Given the description of an element on the screen output the (x, y) to click on. 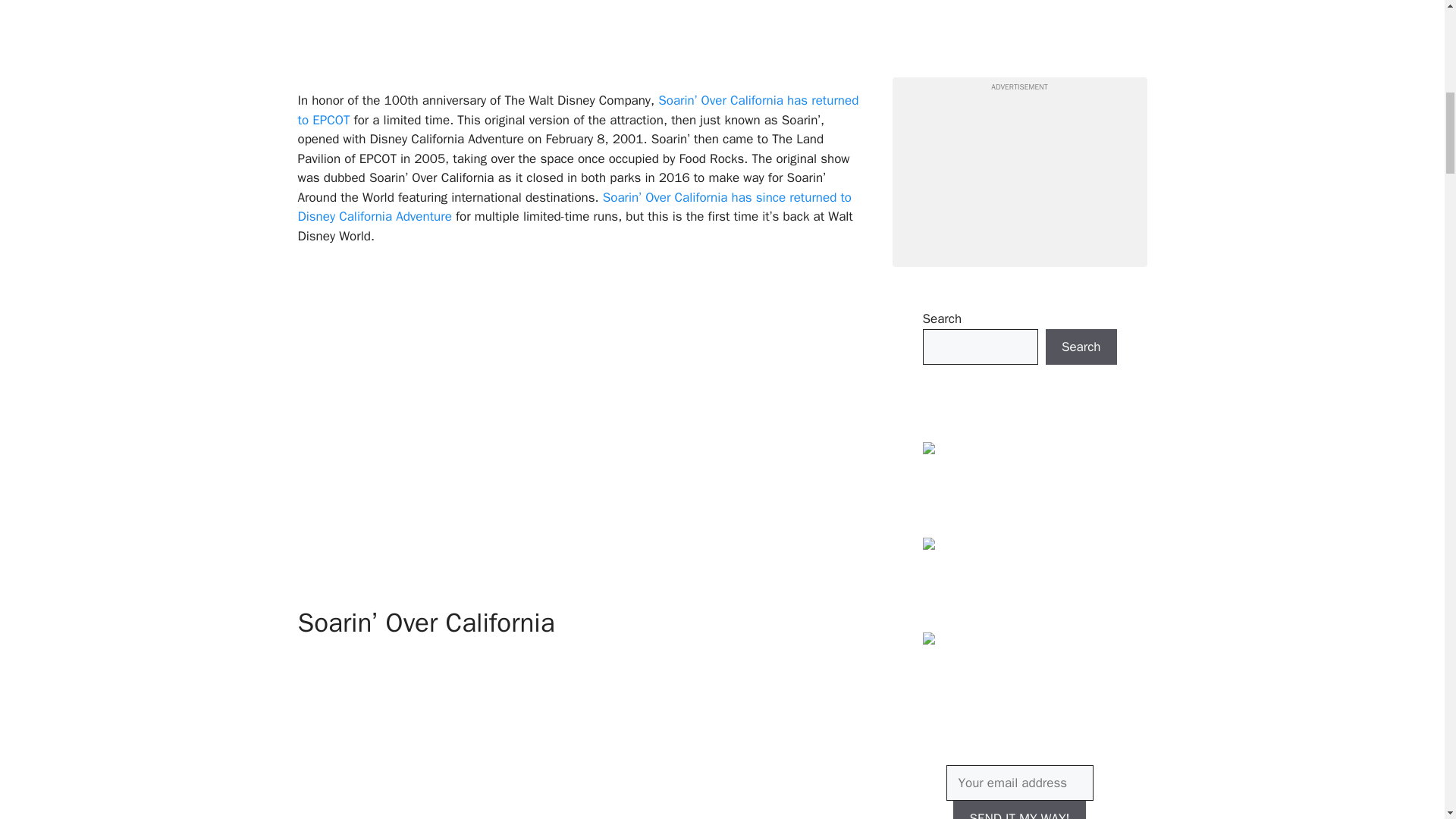
SEND IT MY WAY! (1018, 809)
